Given the description of an element on the screen output the (x, y) to click on. 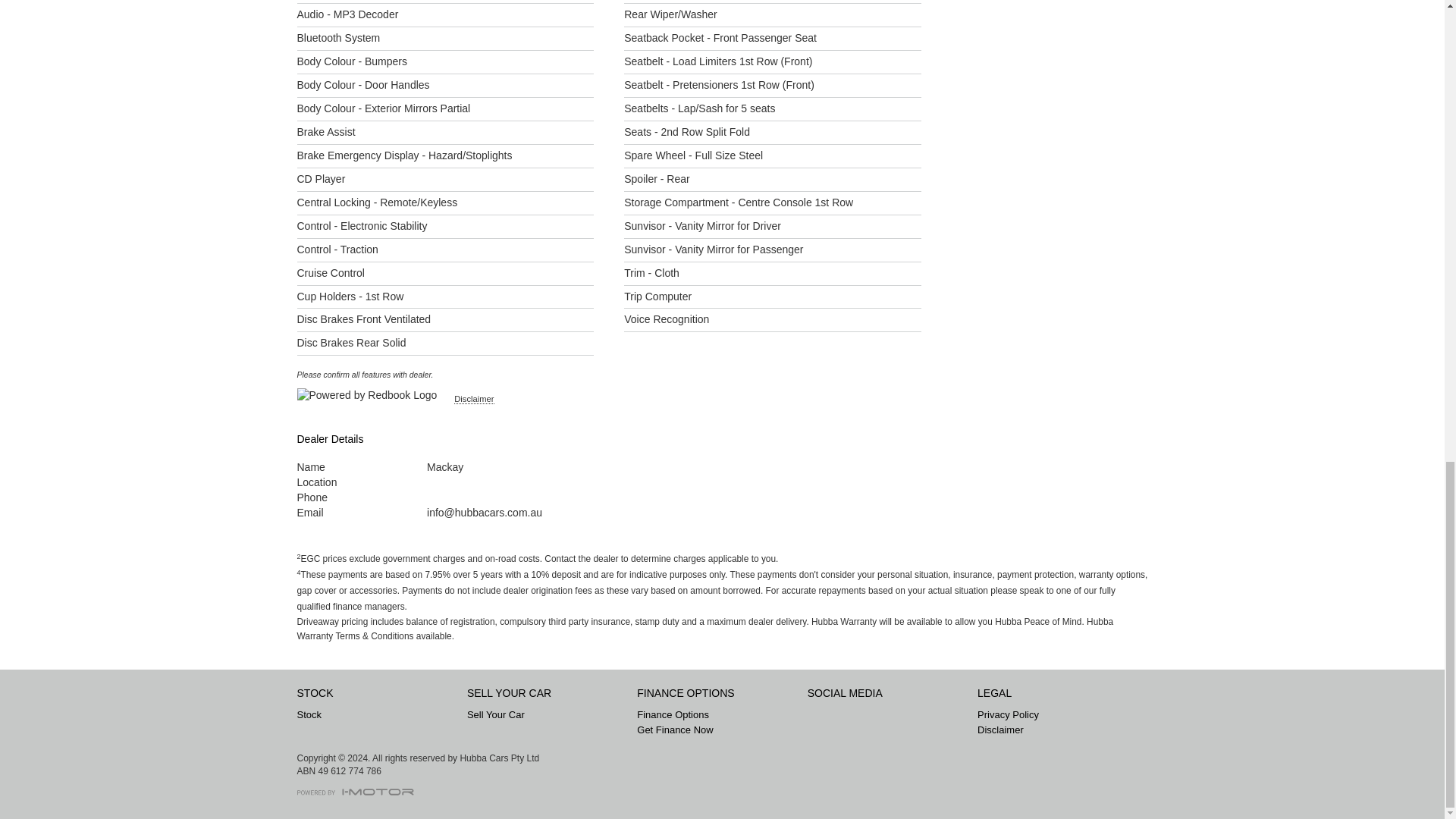
Stock (379, 714)
Sell Your Car (548, 714)
Privacy Policy (1058, 714)
Get Finance Now (718, 729)
Hubba Cars Privacy policy (1058, 714)
Disclaimer (473, 398)
Hubba Cars Disclaimer (1058, 729)
Get Finance Now (718, 729)
facebook (821, 721)
Disclaimer (1058, 729)
Finance Options (718, 714)
Stock (379, 714)
Finance Options (718, 714)
Sell Your Car (548, 714)
